Given the description of an element on the screen output the (x, y) to click on. 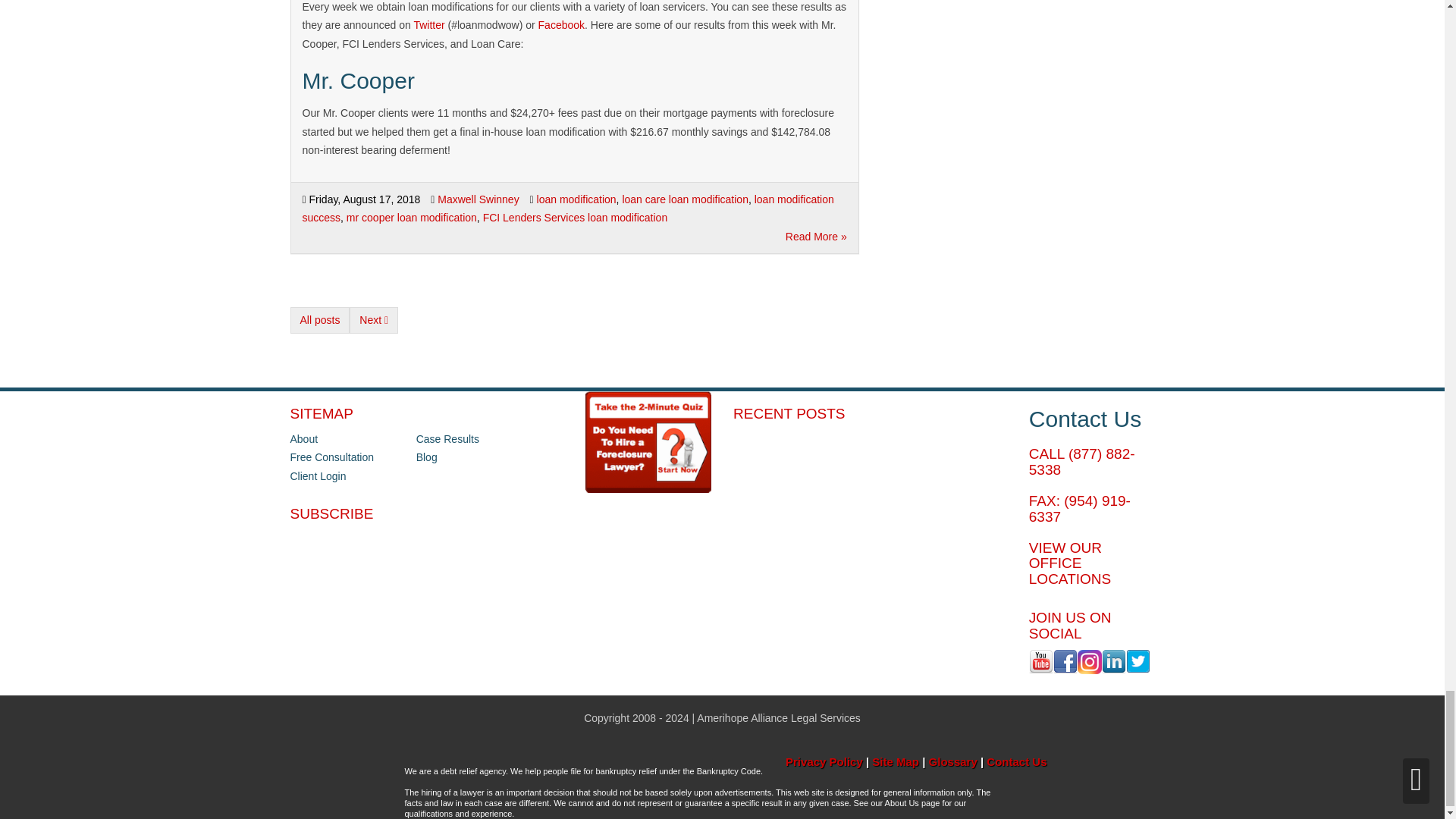
Follow us on Linkedin (1113, 662)
Follow us on Instagram (1089, 662)
Follow us on Facebook (1064, 662)
Follow us on YouTube (1040, 662)
